Given the description of an element on the screen output the (x, y) to click on. 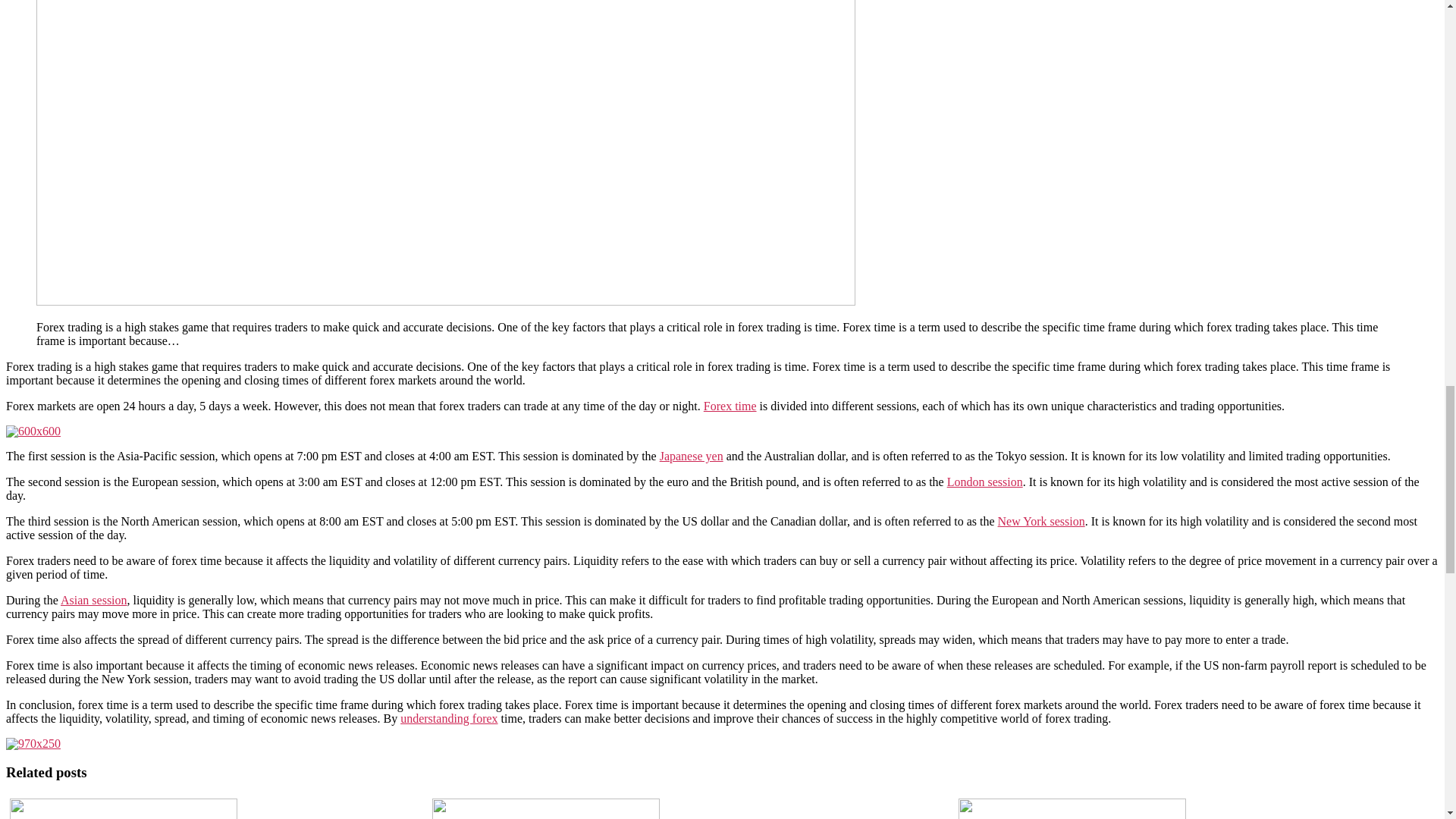
London session (985, 481)
Forex time (730, 405)
New York session (1040, 521)
Japanese yen (691, 455)
understanding forex (448, 717)
Asian session (94, 599)
